Given the description of an element on the screen output the (x, y) to click on. 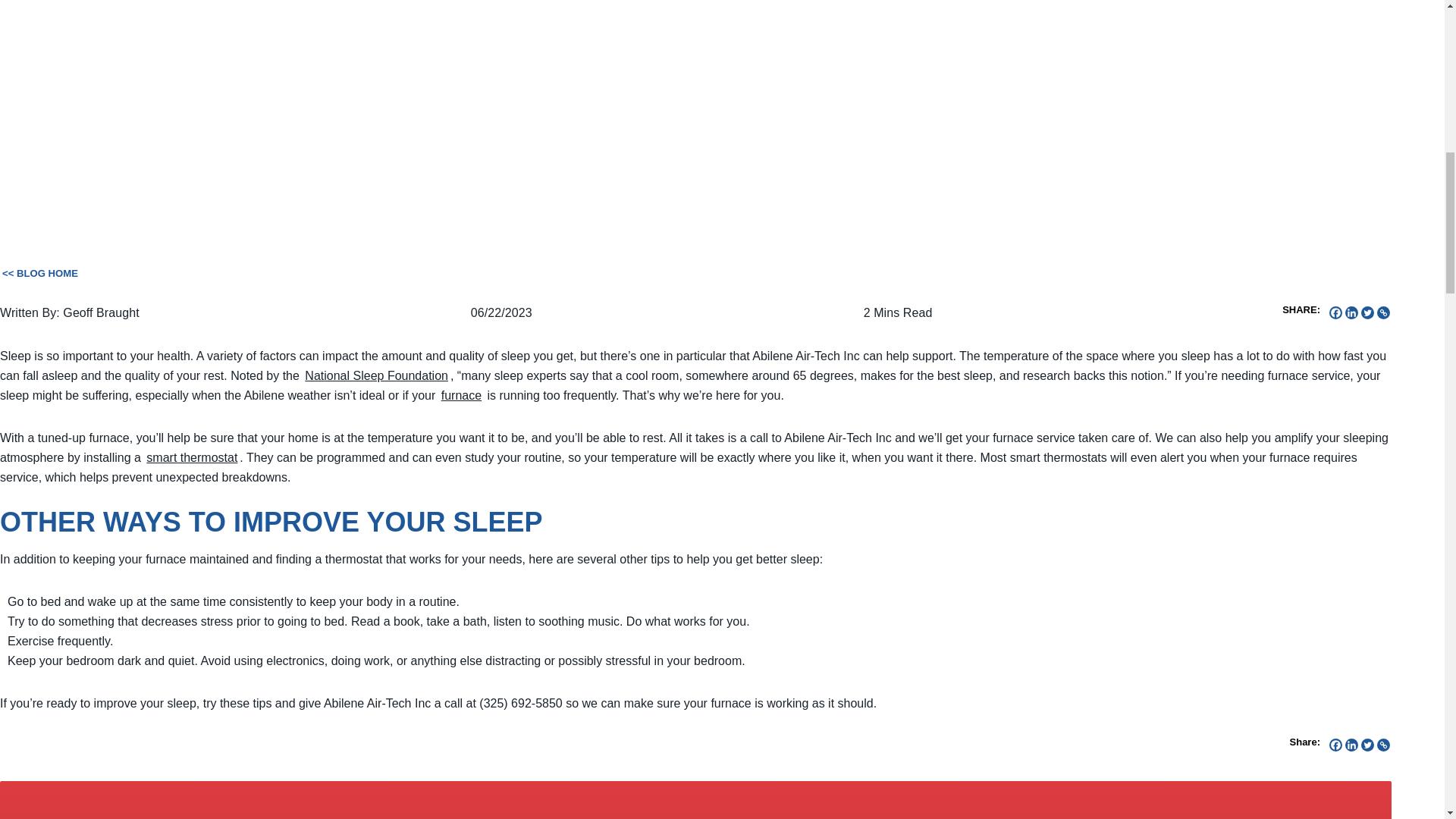
Twitter (1367, 744)
Linkedin (1351, 744)
Facebook (1335, 744)
Copy Link (1383, 744)
Facebook (1335, 312)
Copy Link (1383, 312)
Twitter (1367, 312)
Linkedin (1351, 312)
